Given the description of an element on the screen output the (x, y) to click on. 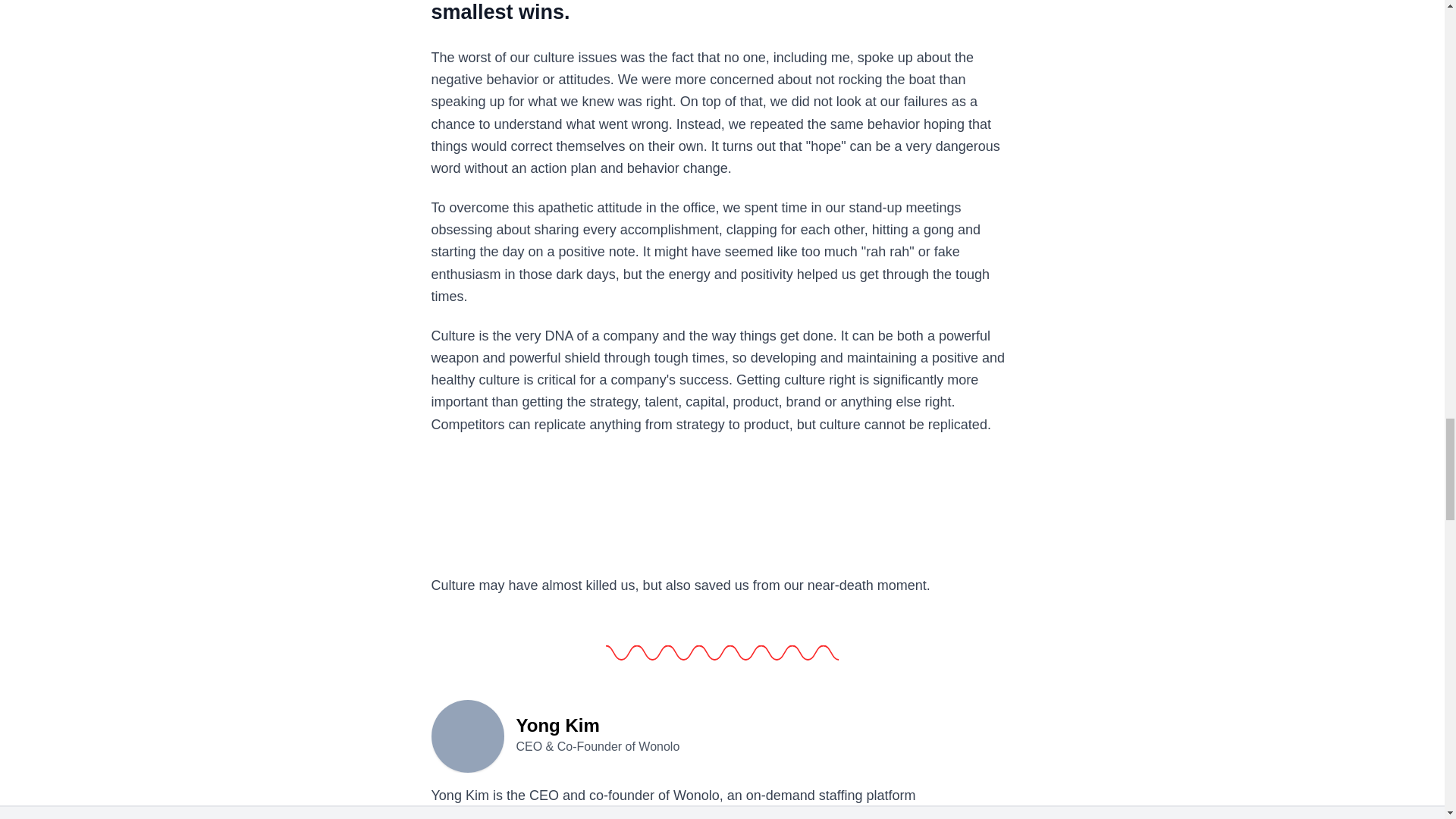
Yong Kim (466, 734)
